Given the description of an element on the screen output the (x, y) to click on. 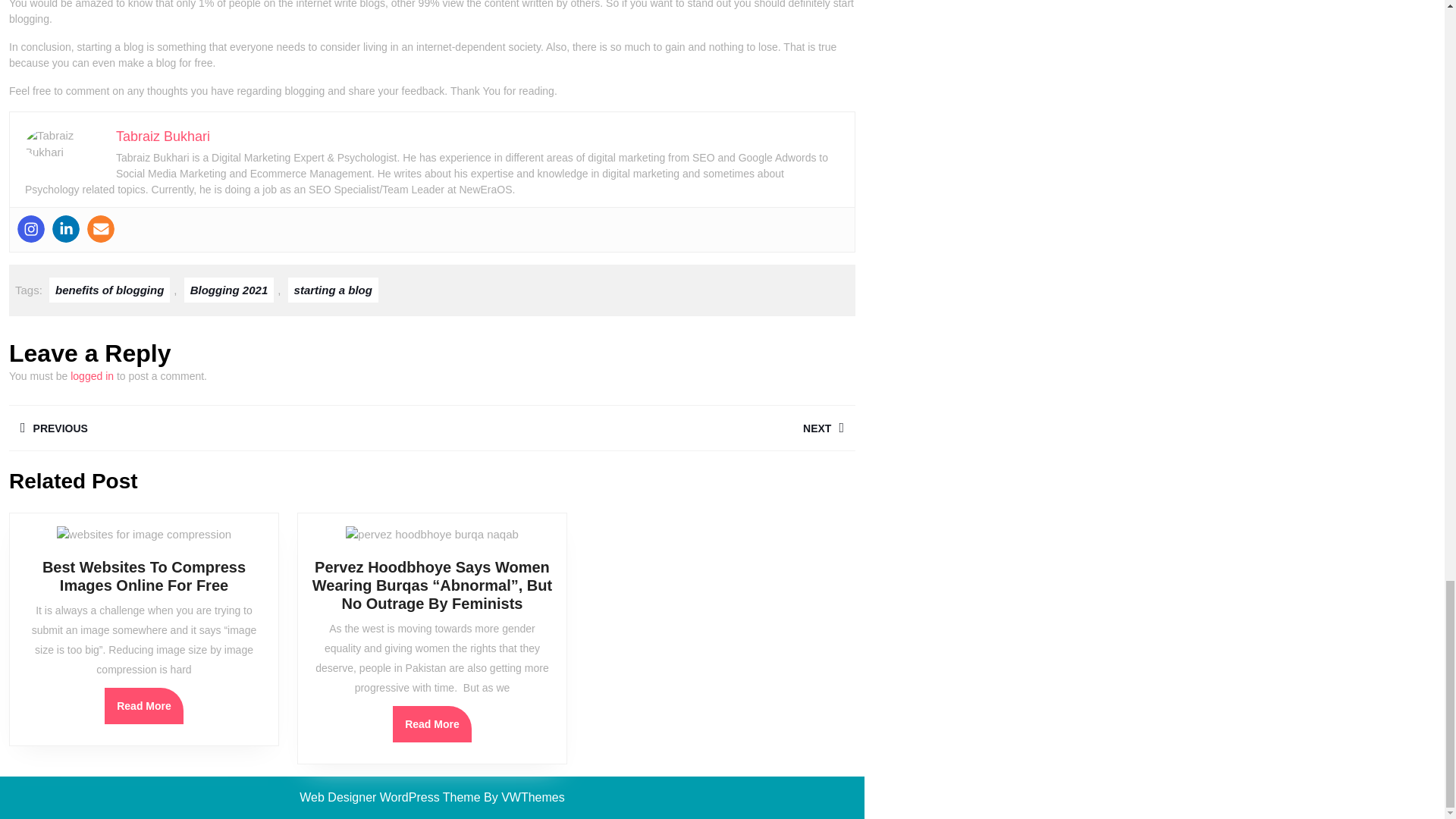
benefits of blogging (109, 289)
Blogging 2021 (229, 289)
Tabraiz Bukhari (162, 136)
Instagram (31, 228)
logged in (91, 376)
User email (101, 228)
Linkedin (66, 228)
